Given the description of an element on the screen output the (x, y) to click on. 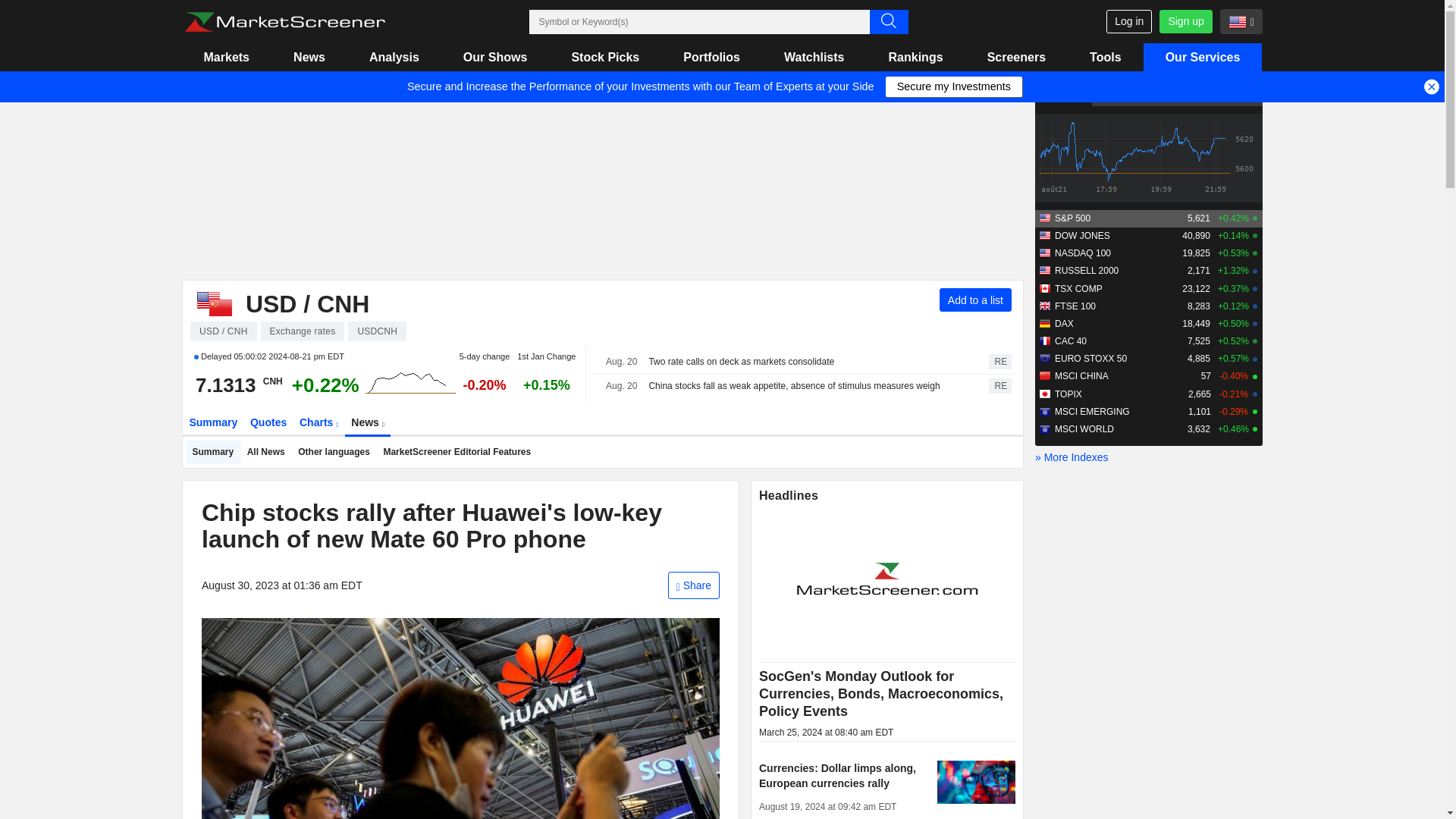
Marketscreener: stock market and financial news (284, 21)
Markets (226, 57)
Sign up (1184, 21)
Log in (1128, 21)
Advanced search (888, 21)
